Given the description of an element on the screen output the (x, y) to click on. 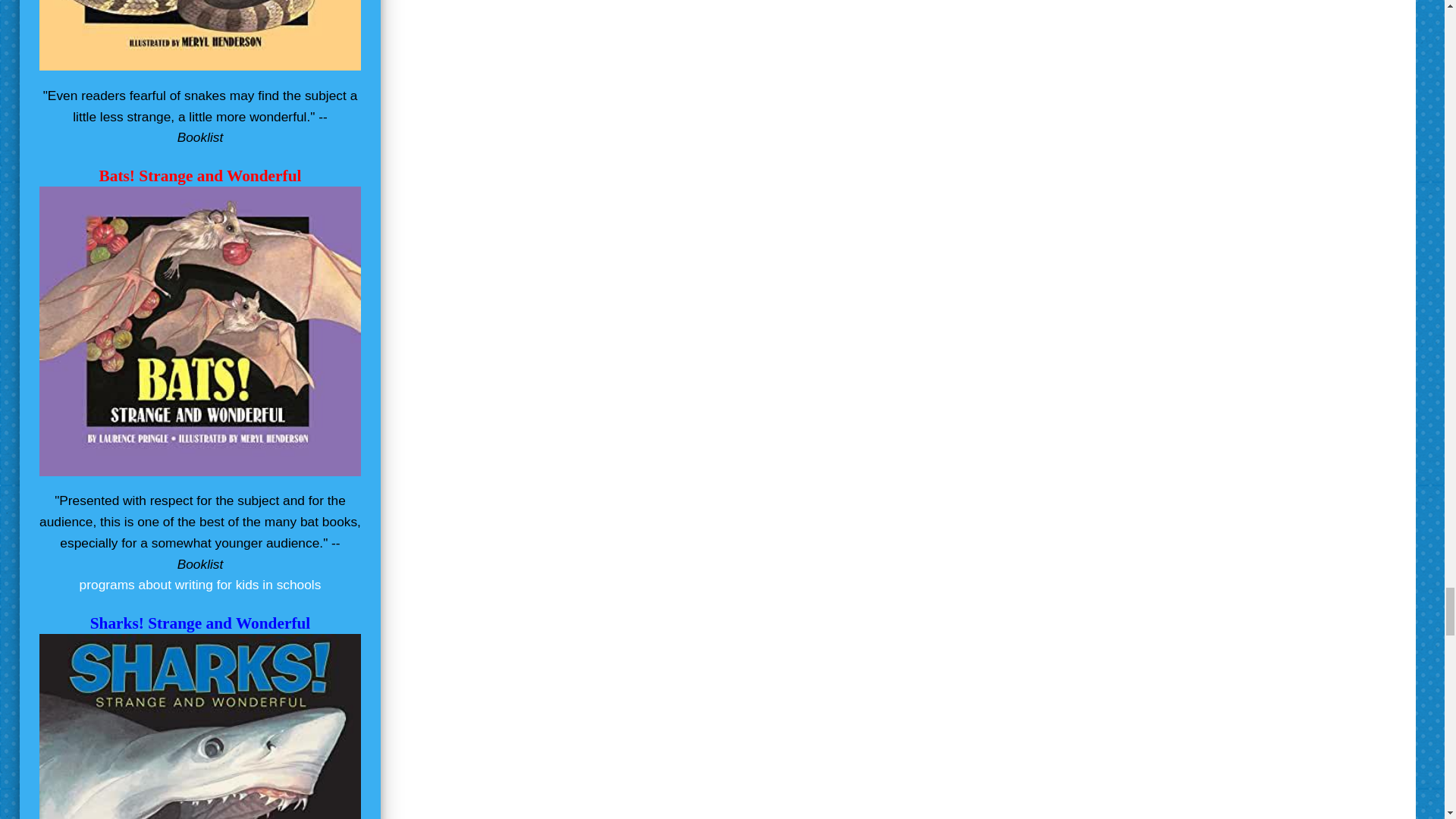
Sharks! Strange and Wonderful (200, 623)
Bats! Strange and Wonderful (200, 176)
